Given the description of an element on the screen output the (x, y) to click on. 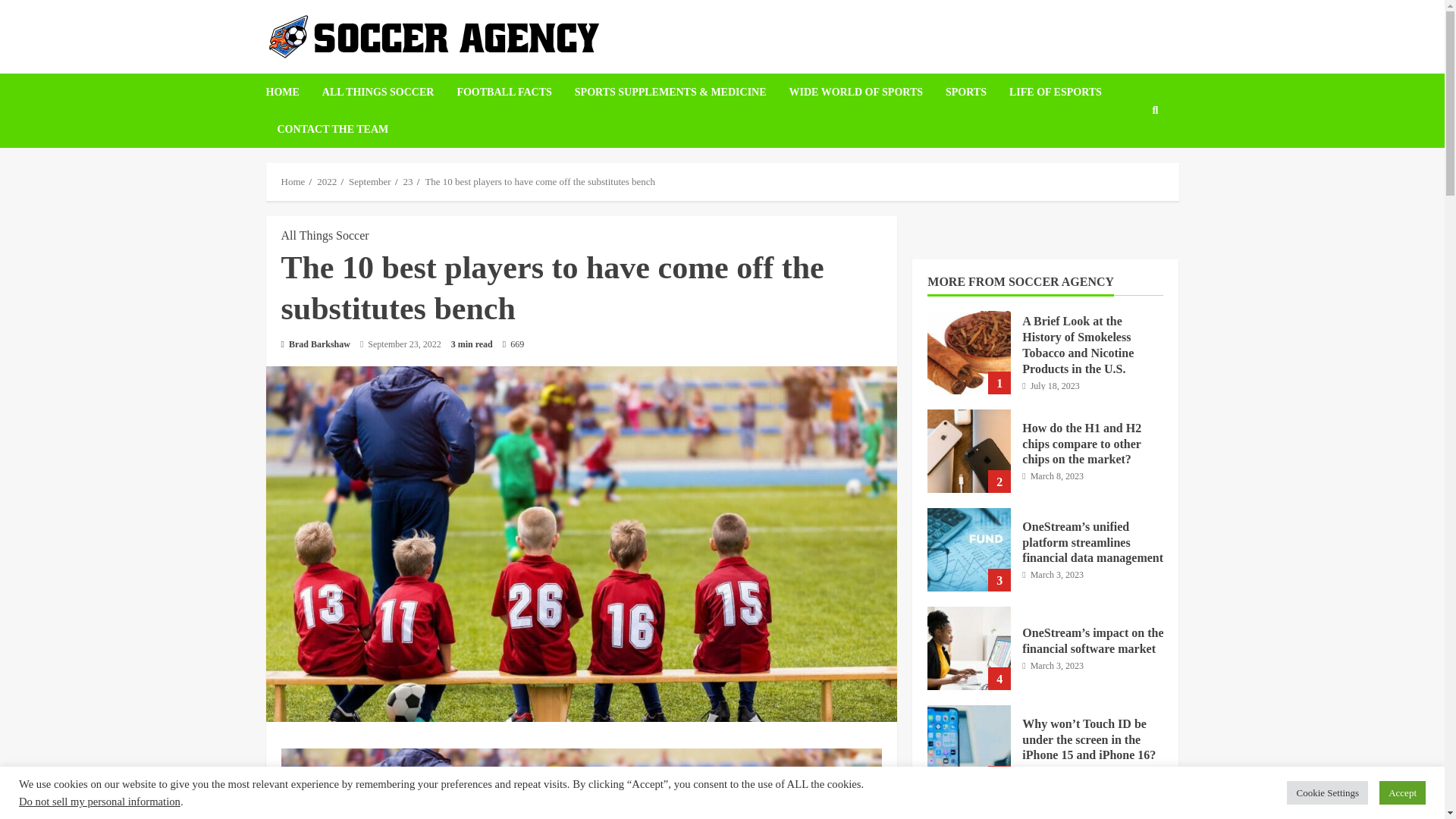
Brad Barkshaw (315, 344)
ALL THINGS SOCCER (378, 91)
669 (513, 344)
SPORTS (965, 91)
HOME (287, 91)
All Things Soccer (324, 235)
FOOTBALL FACTS (503, 91)
September (370, 181)
CONTACT THE TEAM (326, 129)
WIDE WORLD OF SPORTS (855, 91)
2022 (326, 181)
The 10 best players to have come off the substitutes bench (540, 181)
Home (292, 181)
Search (1131, 188)
LIFE OF ESPORTS (1055, 91)
